Given the description of an element on the screen output the (x, y) to click on. 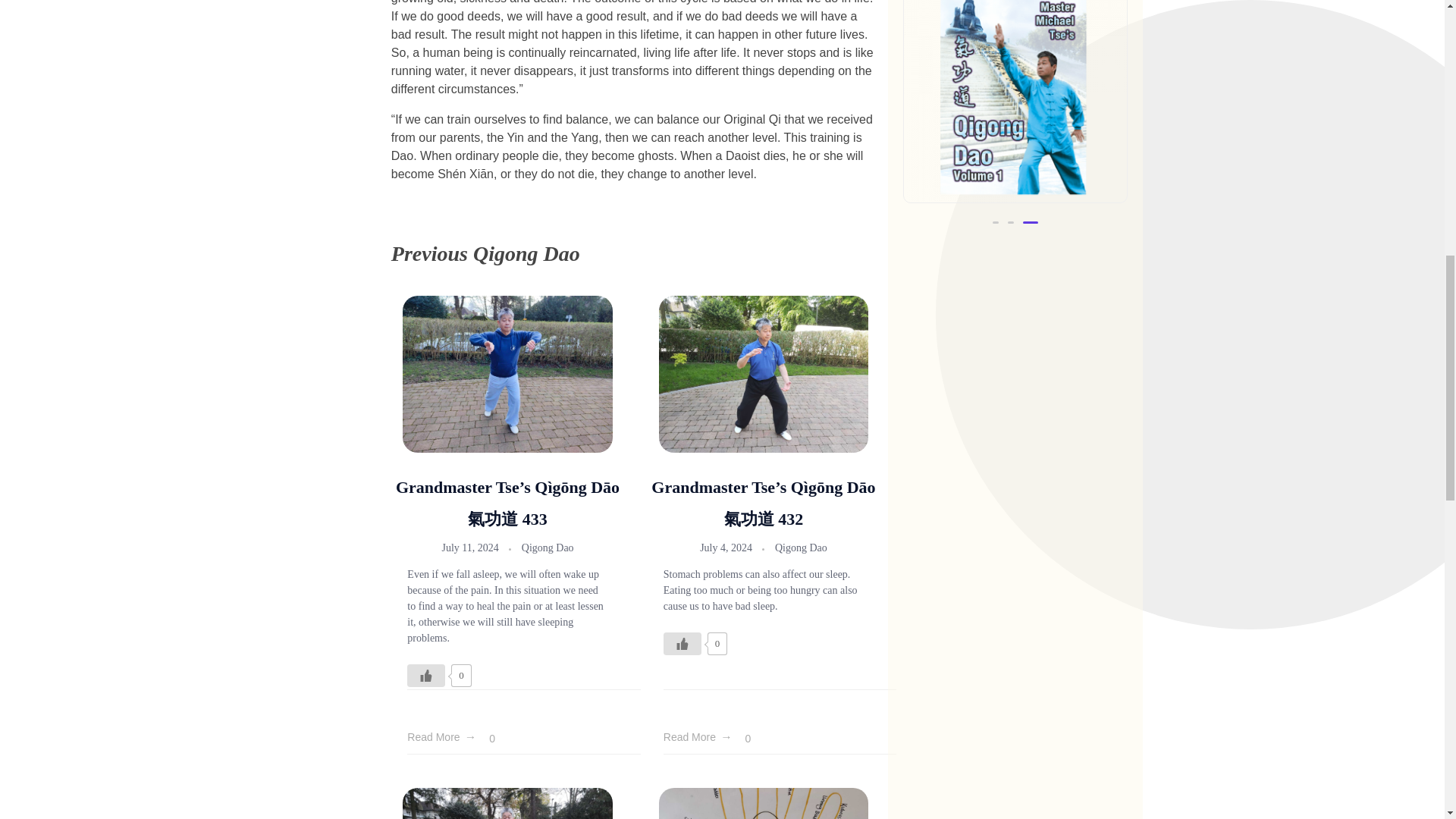
View all posts in Qigong Dao (800, 547)
View all posts in Qigong Dao (547, 547)
